Given the description of an element on the screen output the (x, y) to click on. 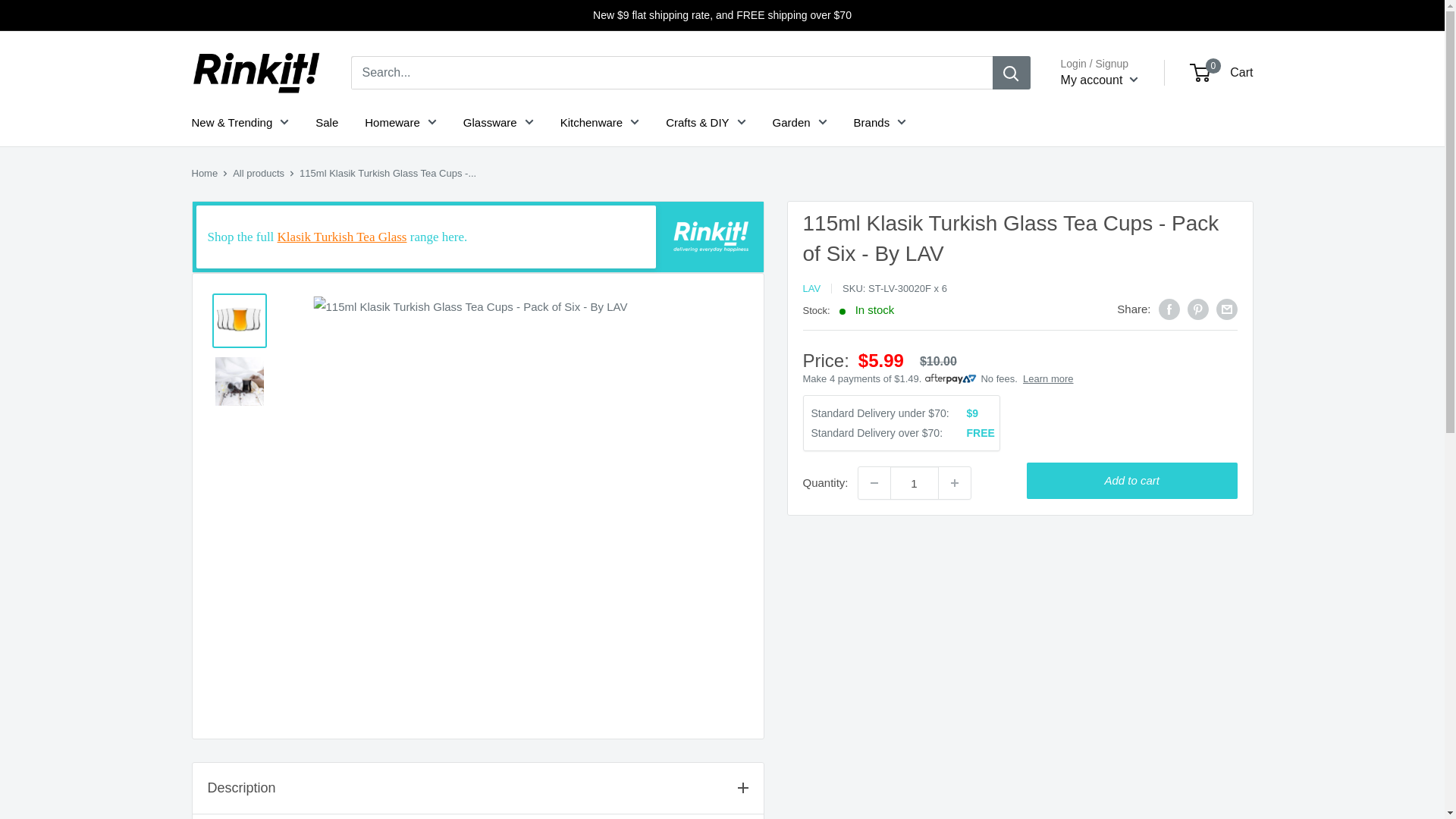
1 (914, 482)
Increase quantity by 1 (955, 482)
Decrease quantity by 1 (874, 482)
